Given the description of an element on the screen output the (x, y) to click on. 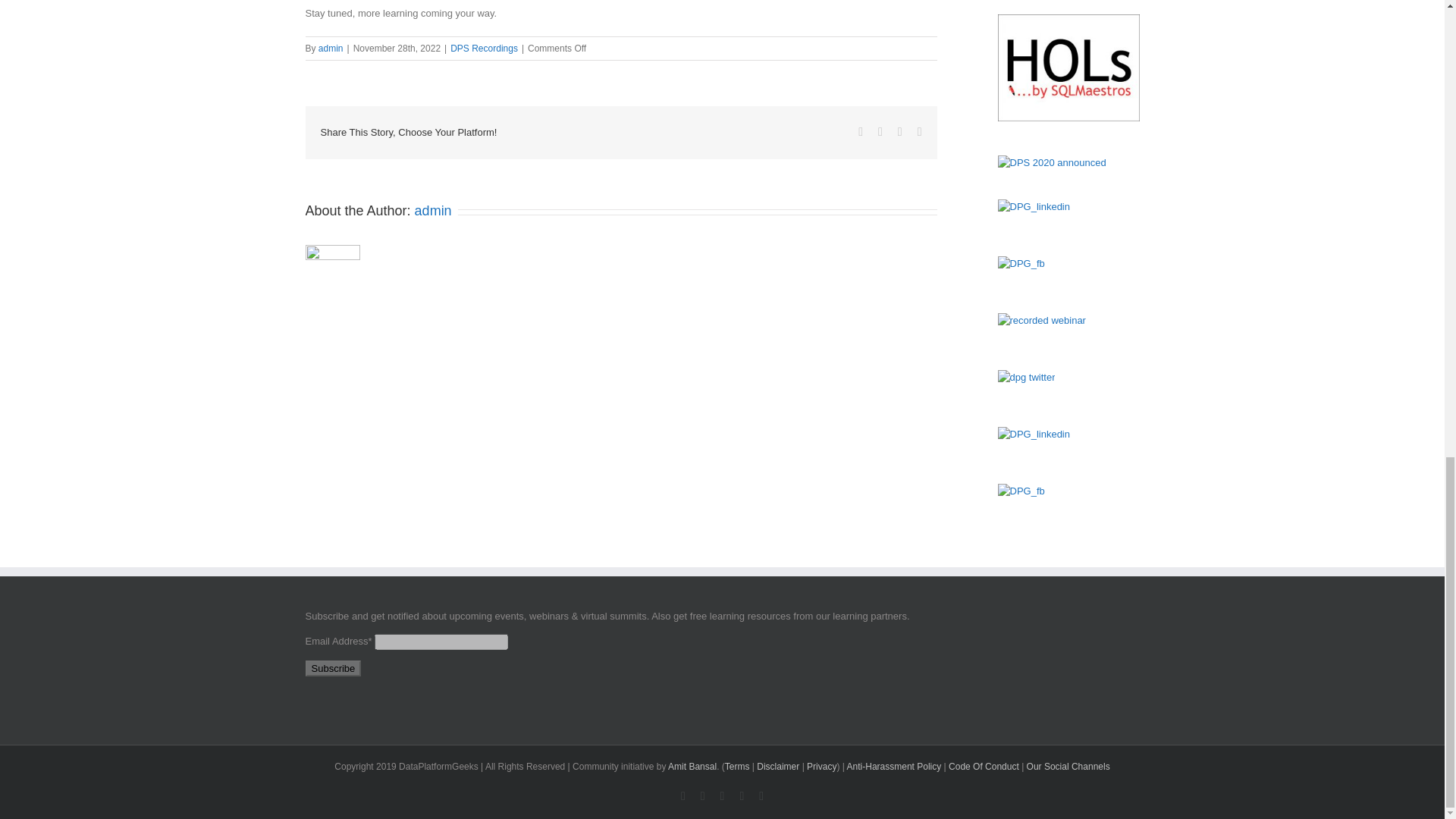
Subscribe (332, 667)
Posts by admin (330, 48)
Posts by admin (432, 210)
